Given the description of an element on the screen output the (x, y) to click on. 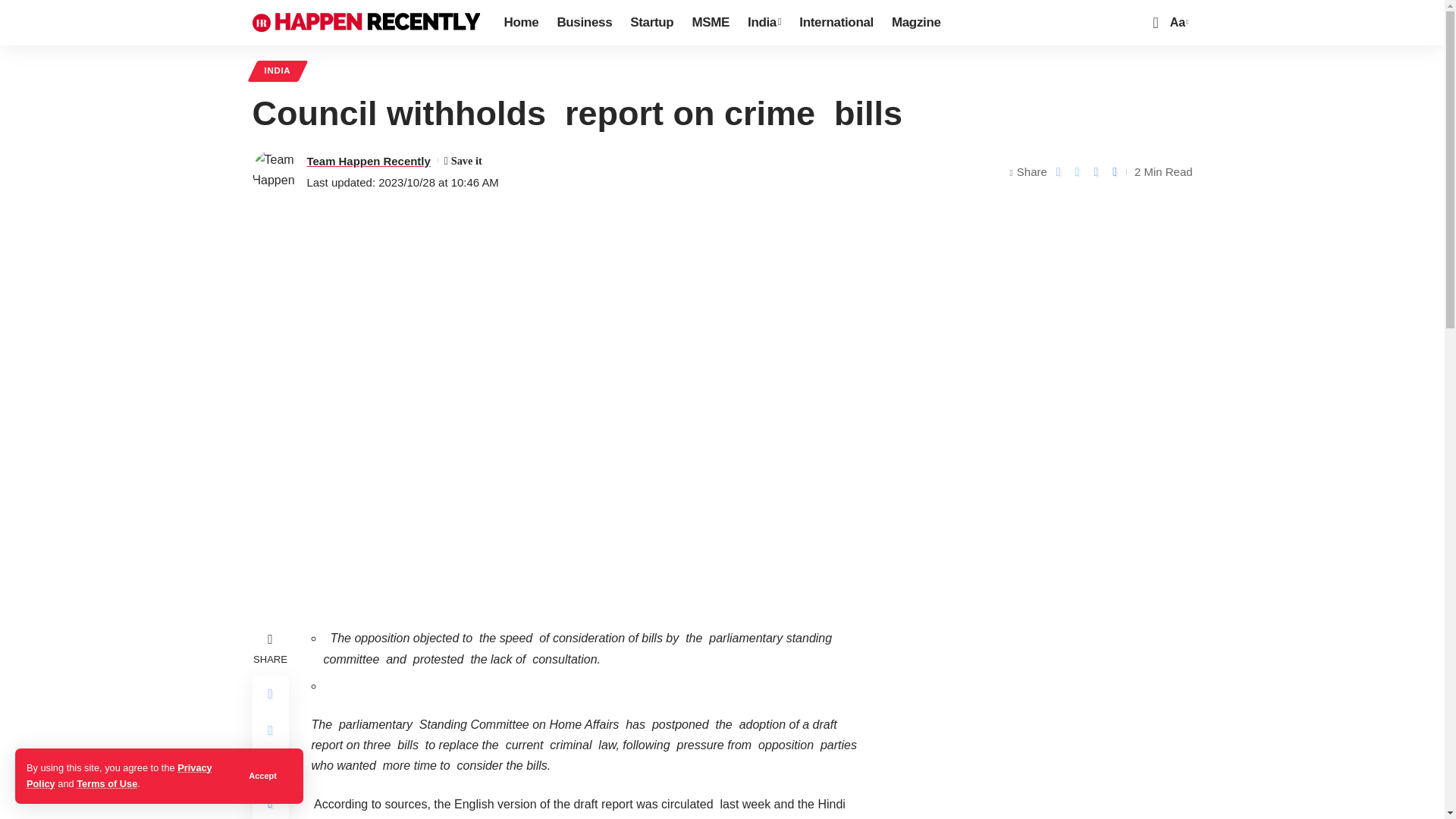
Terms of Use (106, 783)
International (836, 22)
Happen Recently (365, 22)
Privacy Policy (119, 775)
Magzine (916, 22)
Home (521, 22)
MSME (710, 22)
Startup (651, 22)
Business (584, 22)
India (764, 22)
